Given the description of an element on the screen output the (x, y) to click on. 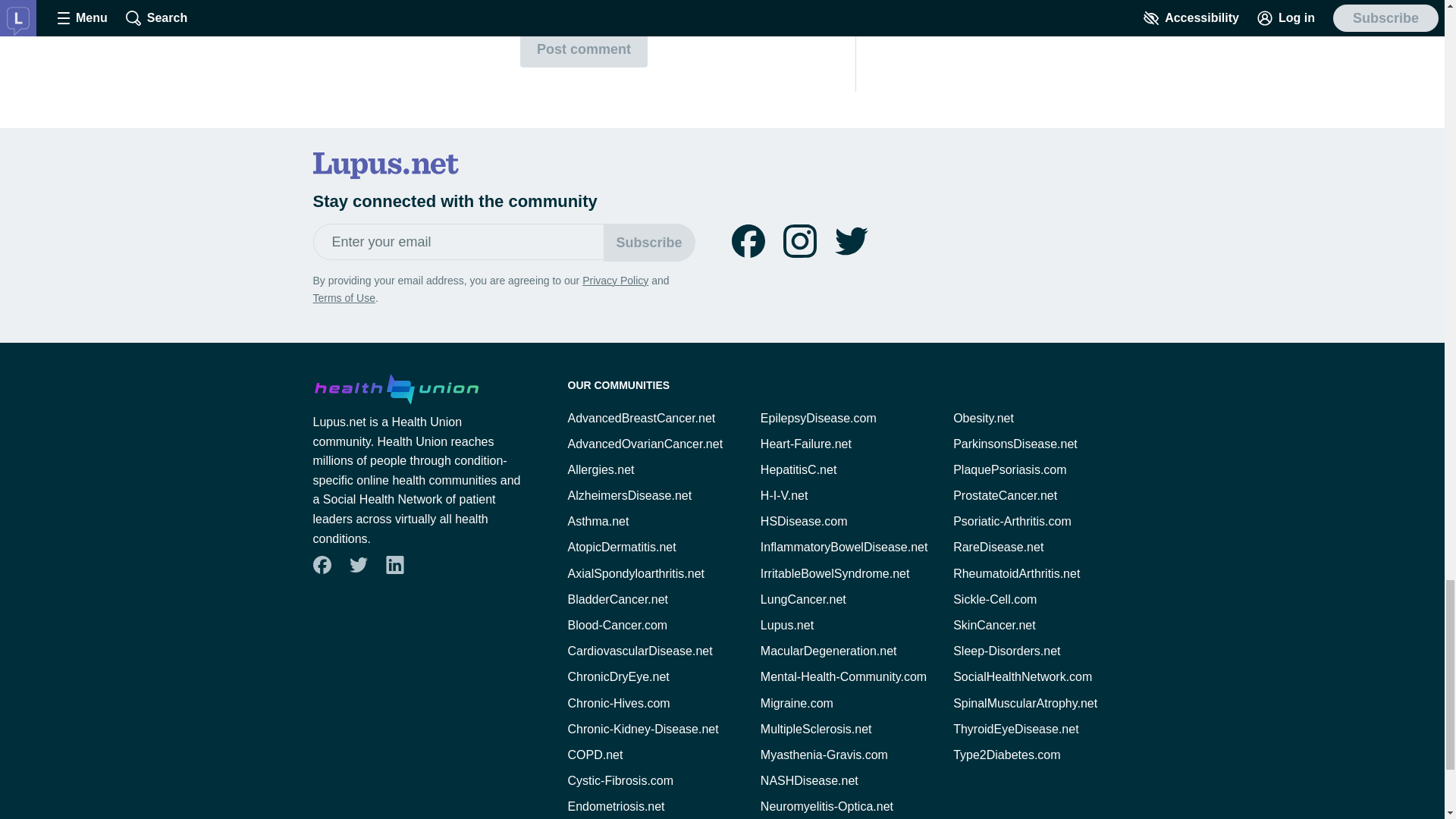
Follow us on instagram (799, 240)
Follow us on twitter (850, 240)
Follow us on facebook (747, 240)
